Given the description of an element on the screen output the (x, y) to click on. 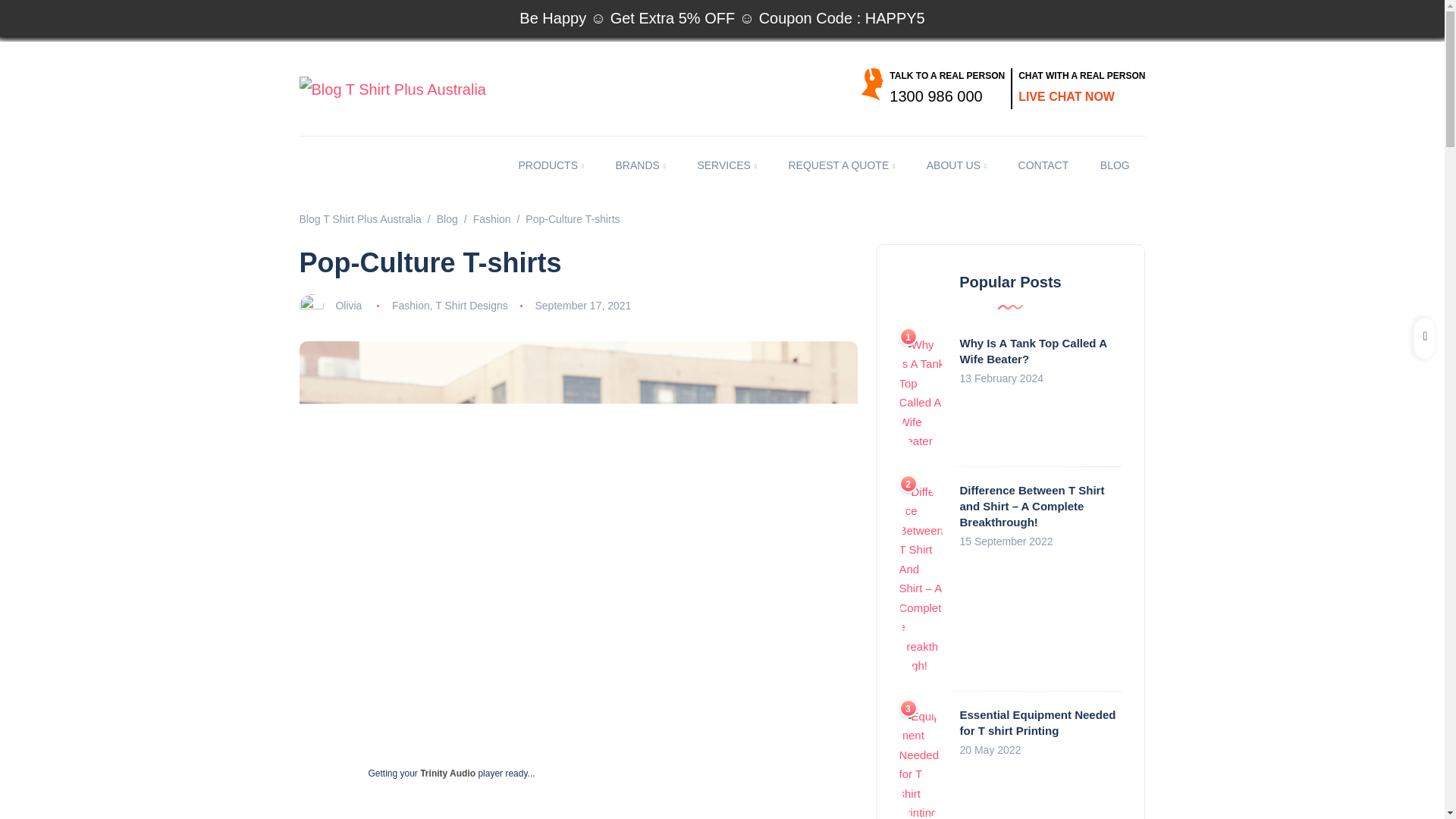
Go to Blog T Shirt Plus Australia. (359, 218)
Go to the Fashion Category archives. (492, 218)
Go to Blog. (447, 218)
Posts by Olivia (347, 305)
